Given the description of an element on the screen output the (x, y) to click on. 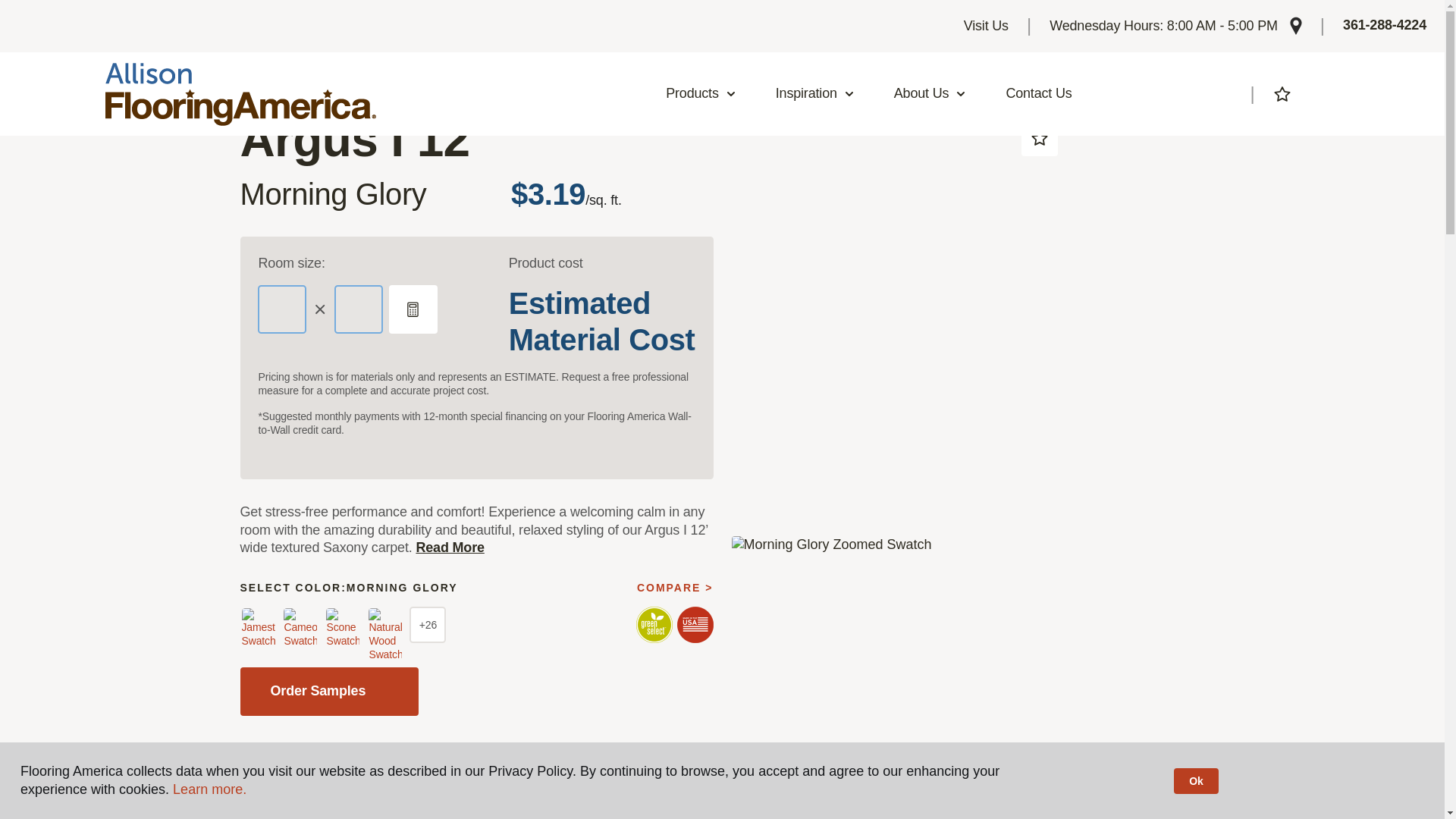
About Us (930, 94)
Contact Us (1038, 94)
361-288-4224 (1384, 25)
Inspiration (815, 94)
Visit Us (986, 26)
Products (700, 94)
